Given the description of an element on the screen output the (x, y) to click on. 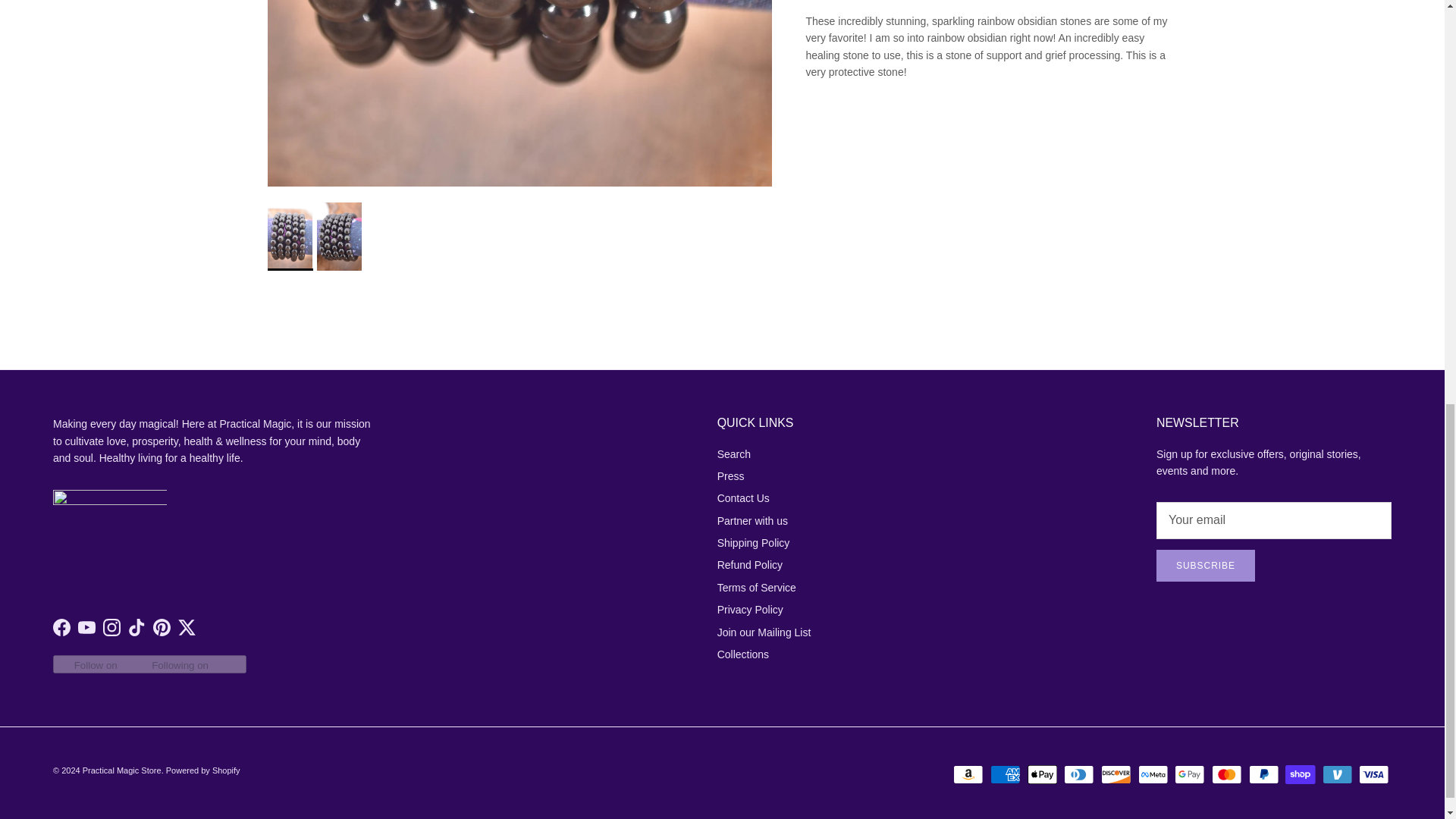
Practical Magic Store on TikTok (136, 627)
Practical Magic Store on YouTube (87, 627)
Practical Magic Store on Pinterest (161, 627)
Practical Magic Store on Instagram (111, 627)
Practical Magic Store on Facebook (60, 627)
Amazon (967, 773)
American Express (1005, 773)
Practical Magic Store on Twitter (186, 627)
